Given the description of an element on the screen output the (x, y) to click on. 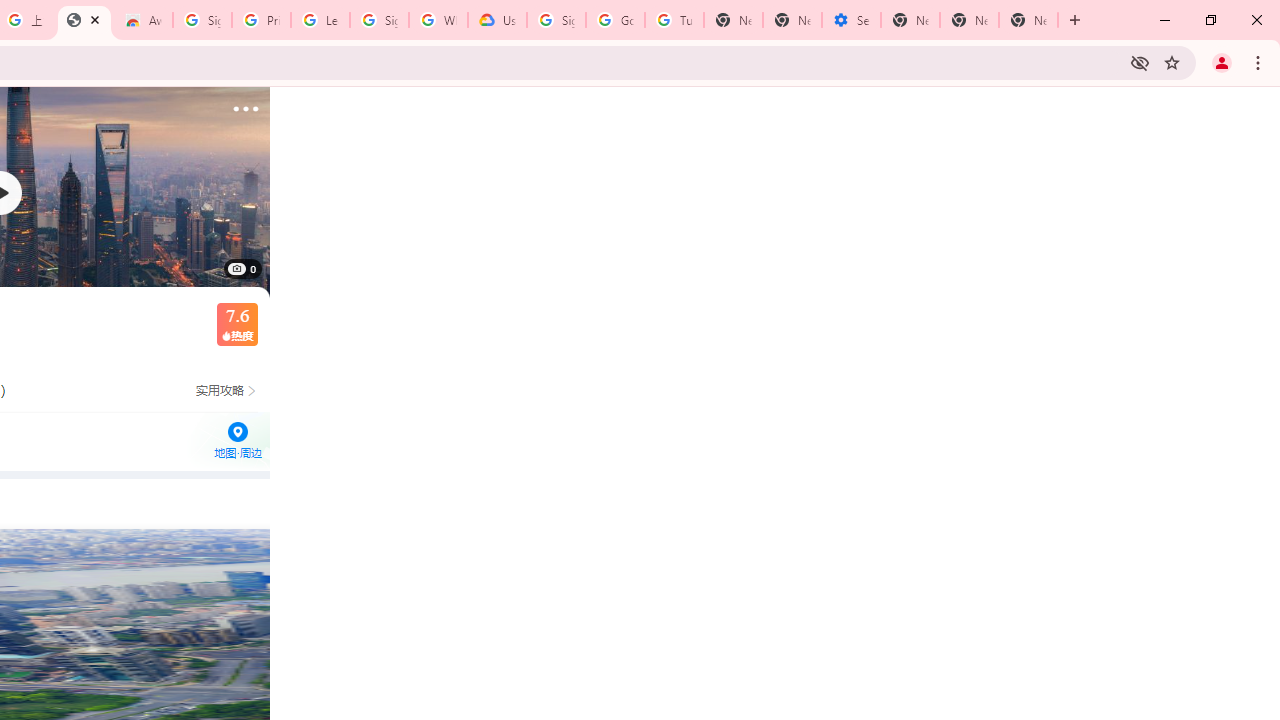
Awesome Screen Recorder & Screenshot - Chrome Web Store (142, 20)
New Tab (909, 20)
New Tab (1028, 20)
